Given the description of an element on the screen output the (x, y) to click on. 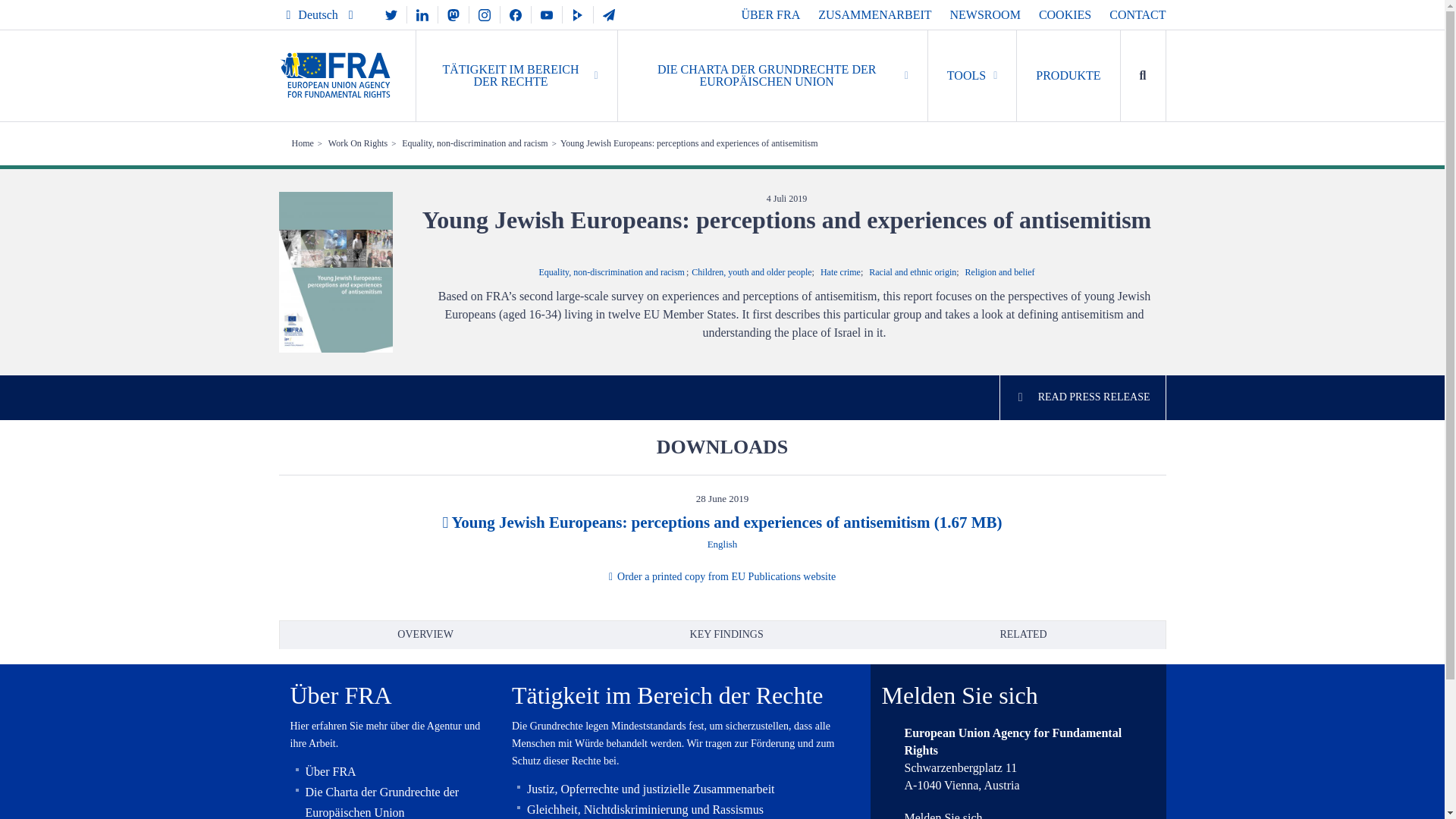
FRA's Instagram channel (483, 13)
NEWSROOM (985, 14)
FRA's Mastodon channel (453, 13)
FRA's Facebook channel (515, 13)
LinkedIn (422, 13)
FRA's Twitter channel (390, 13)
YouTube (546, 13)
CONTACT (1137, 14)
Instagram (483, 13)
